Given the description of an element on the screen output the (x, y) to click on. 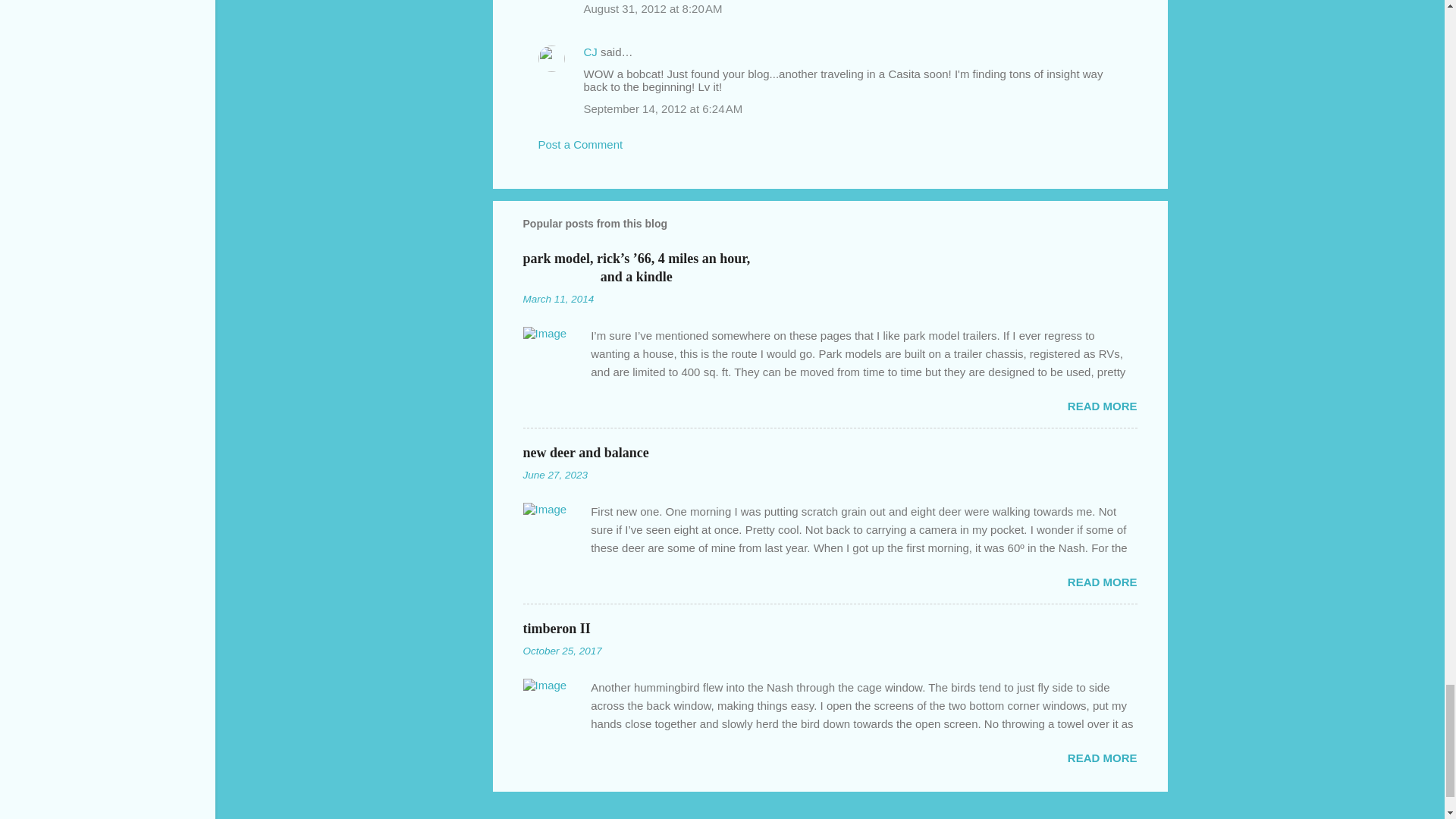
March 11, 2014 (558, 298)
Post a Comment (580, 144)
CJ (589, 51)
